Given the description of an element on the screen output the (x, y) to click on. 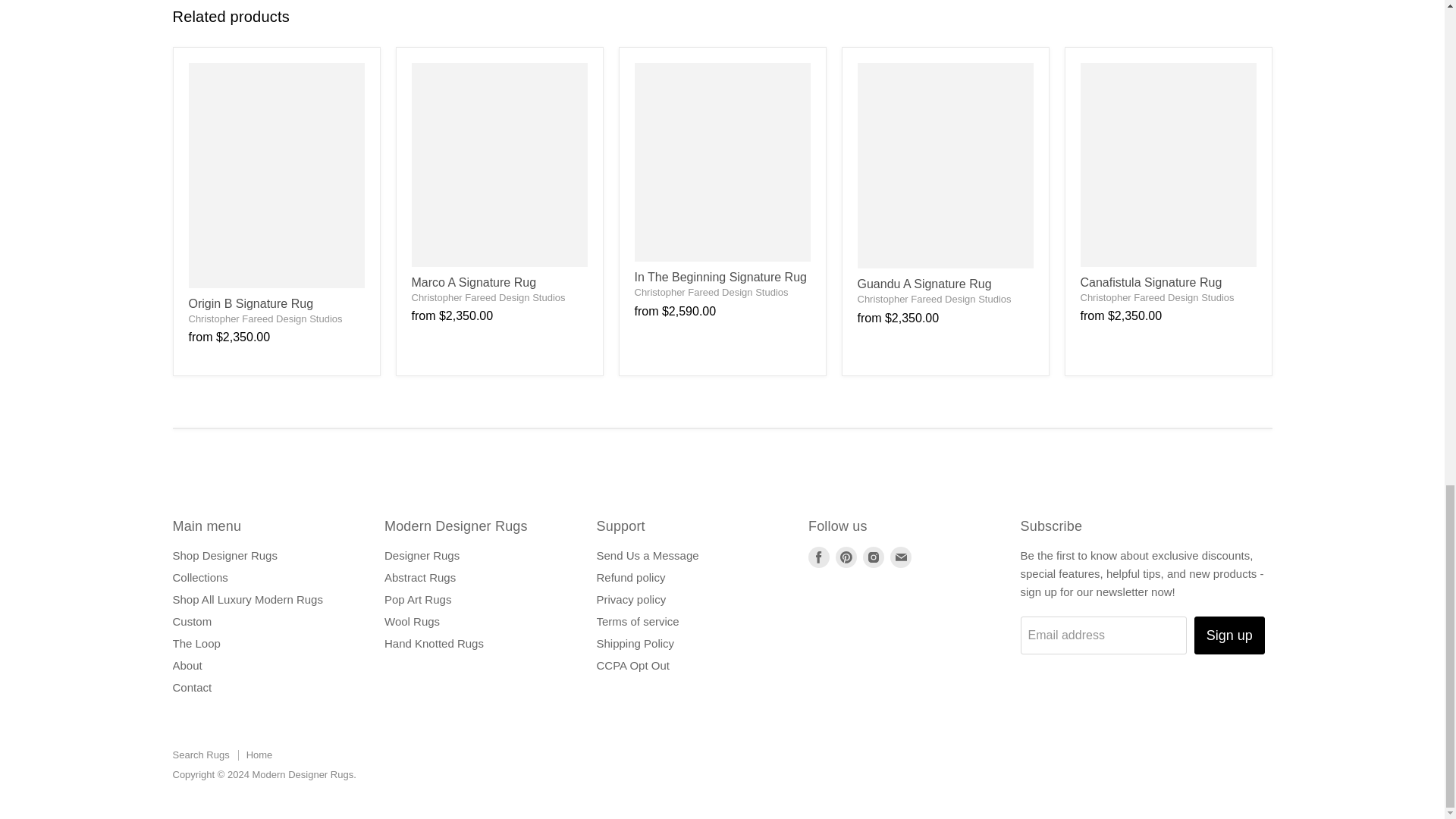
E-mail (900, 556)
Facebook (818, 556)
Instagram (873, 556)
Pinterest (846, 556)
